Given the description of an element on the screen output the (x, y) to click on. 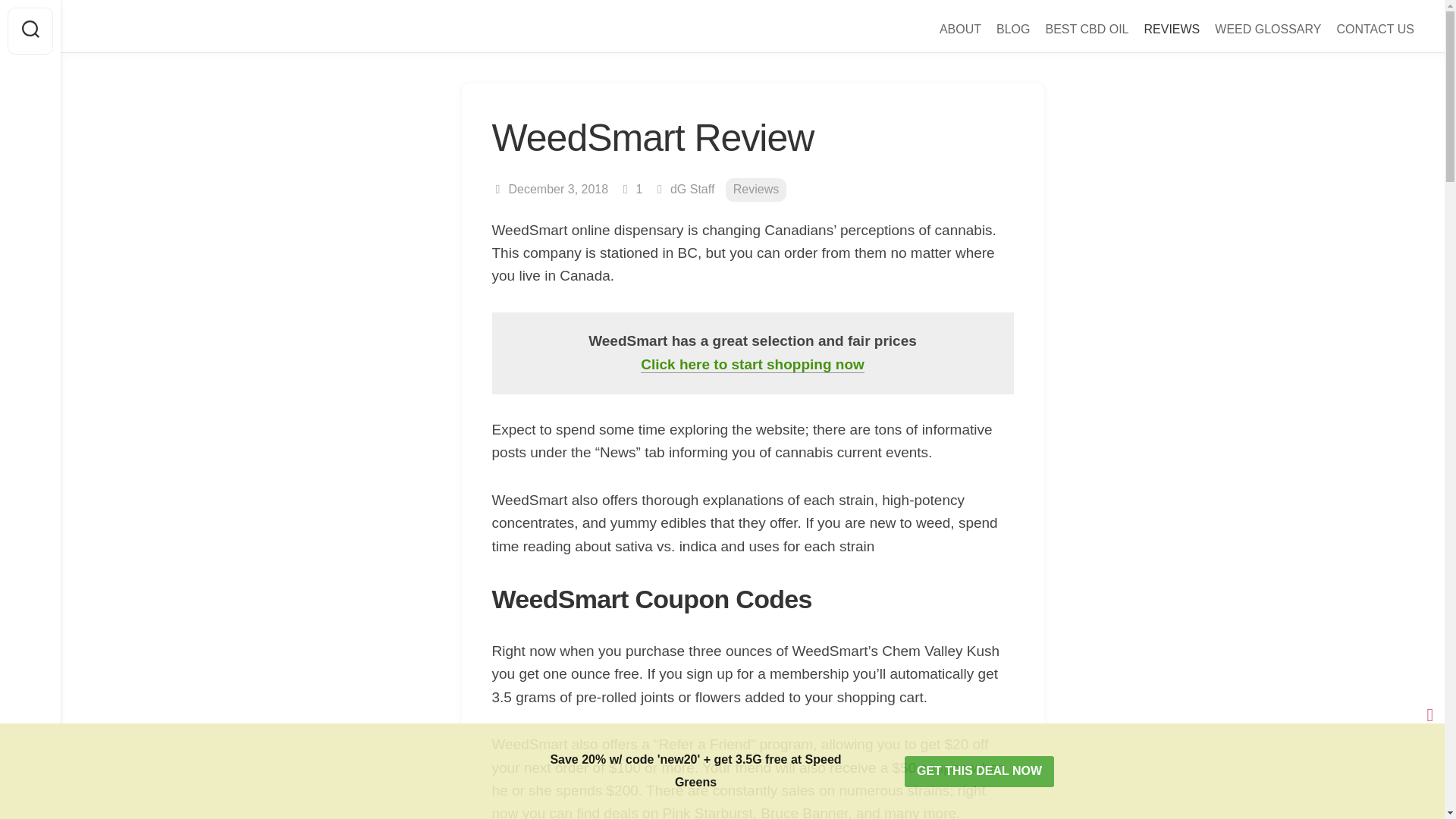
Click here to start shopping now (752, 364)
BEST CBD OIL (1087, 29)
REVIEWS (1170, 29)
BLOG (1012, 29)
Posts by dG Staff (691, 188)
WEED GLOSSARY (1267, 29)
CONTACT US (1374, 29)
Reviews (755, 189)
ABOUT (960, 29)
dG Staff (691, 188)
